Given the description of an element on the screen output the (x, y) to click on. 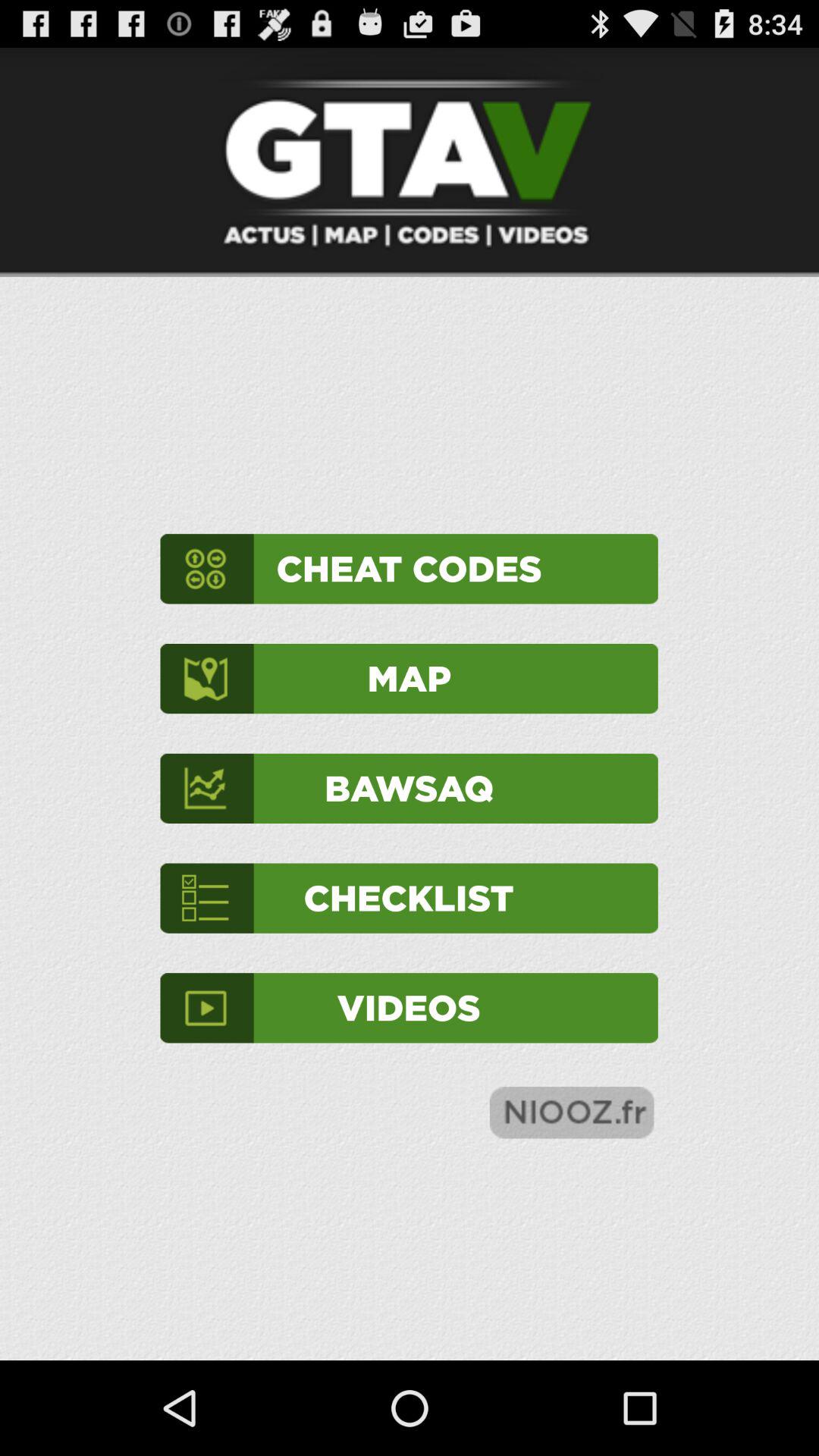
flip to map icon (409, 678)
